Given the description of an element on the screen output the (x, y) to click on. 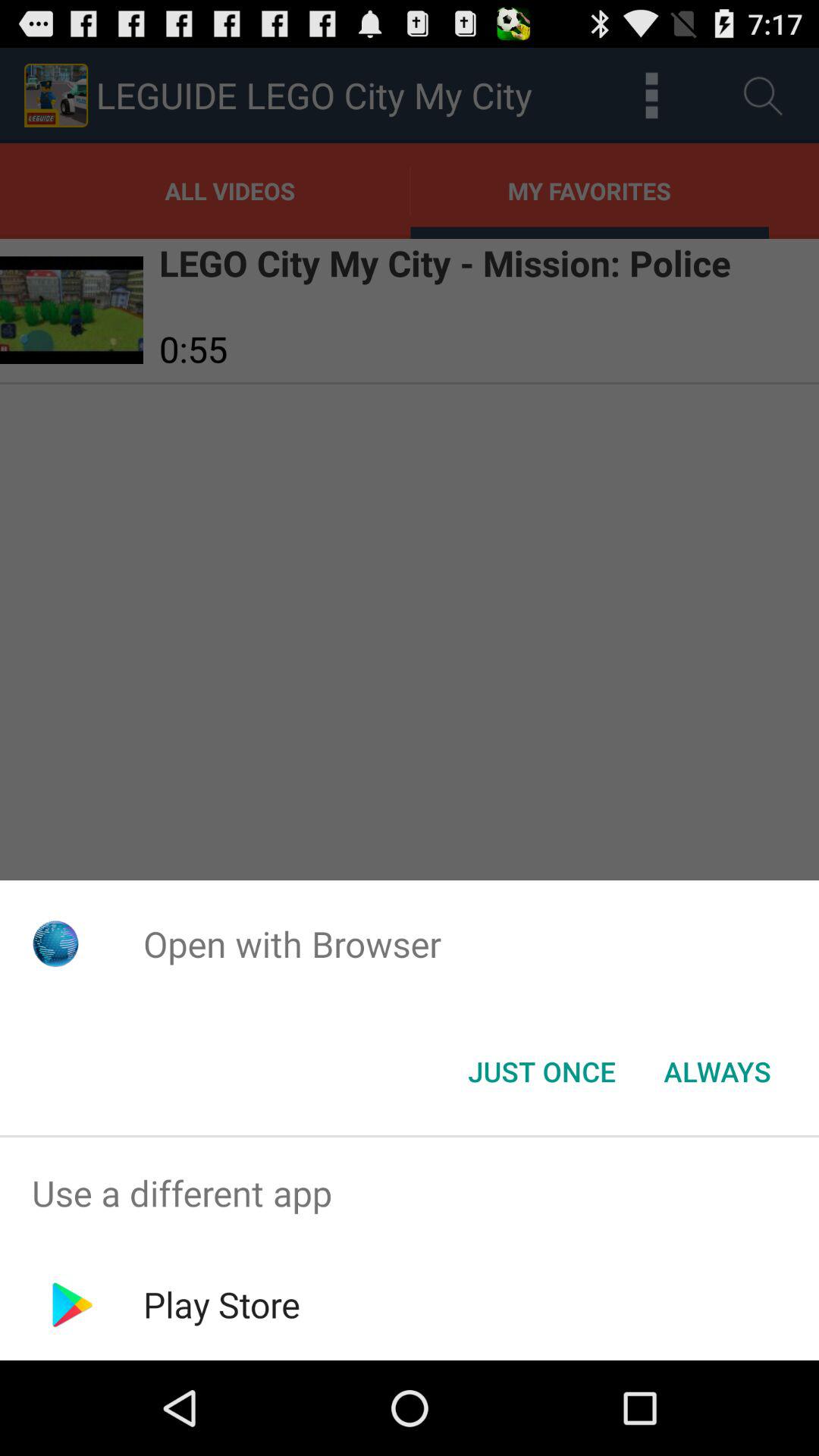
open play store icon (221, 1304)
